Given the description of an element on the screen output the (x, y) to click on. 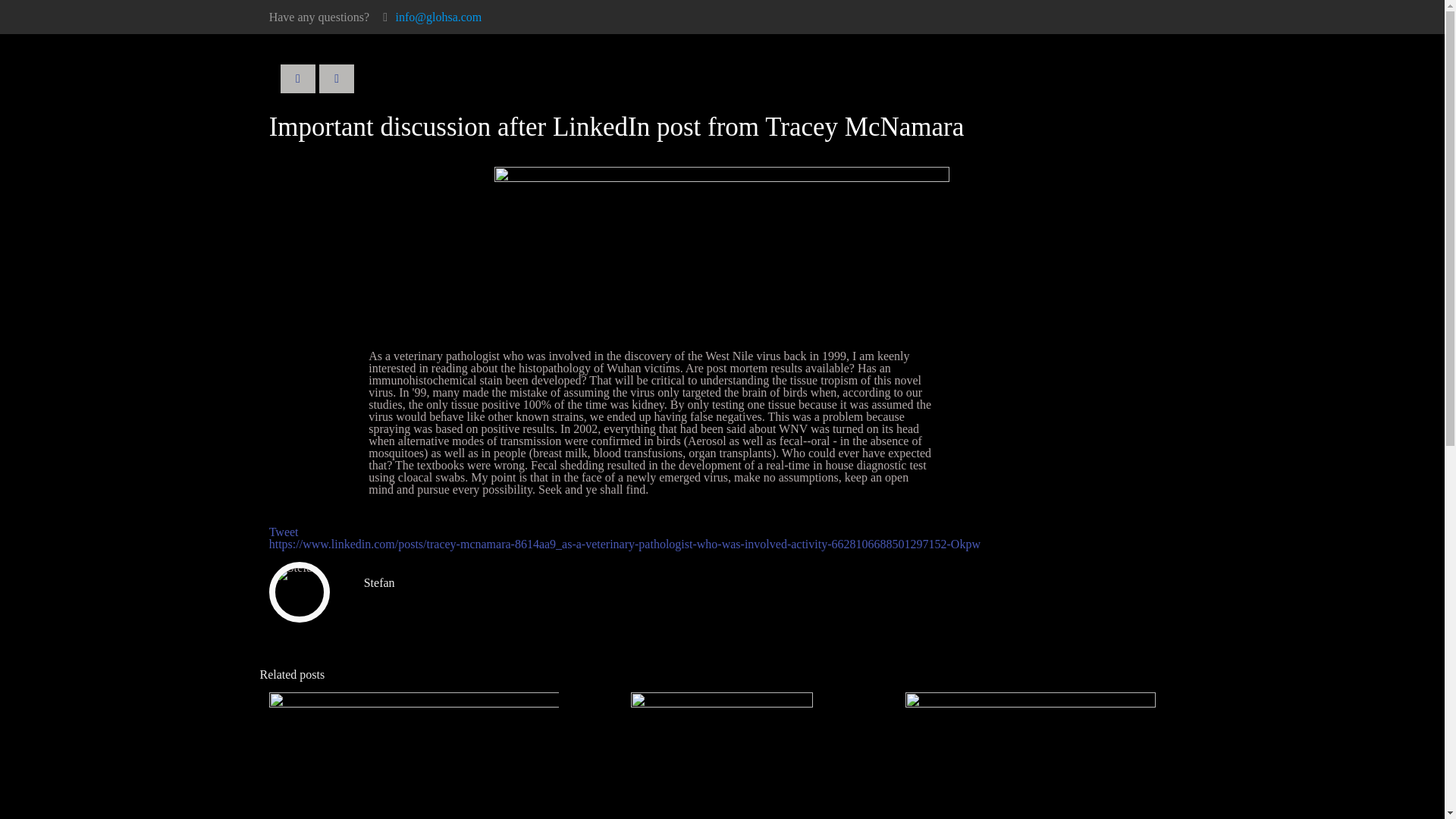
Stefan (379, 582)
Tweet (283, 531)
